Given the description of an element on the screen output the (x, y) to click on. 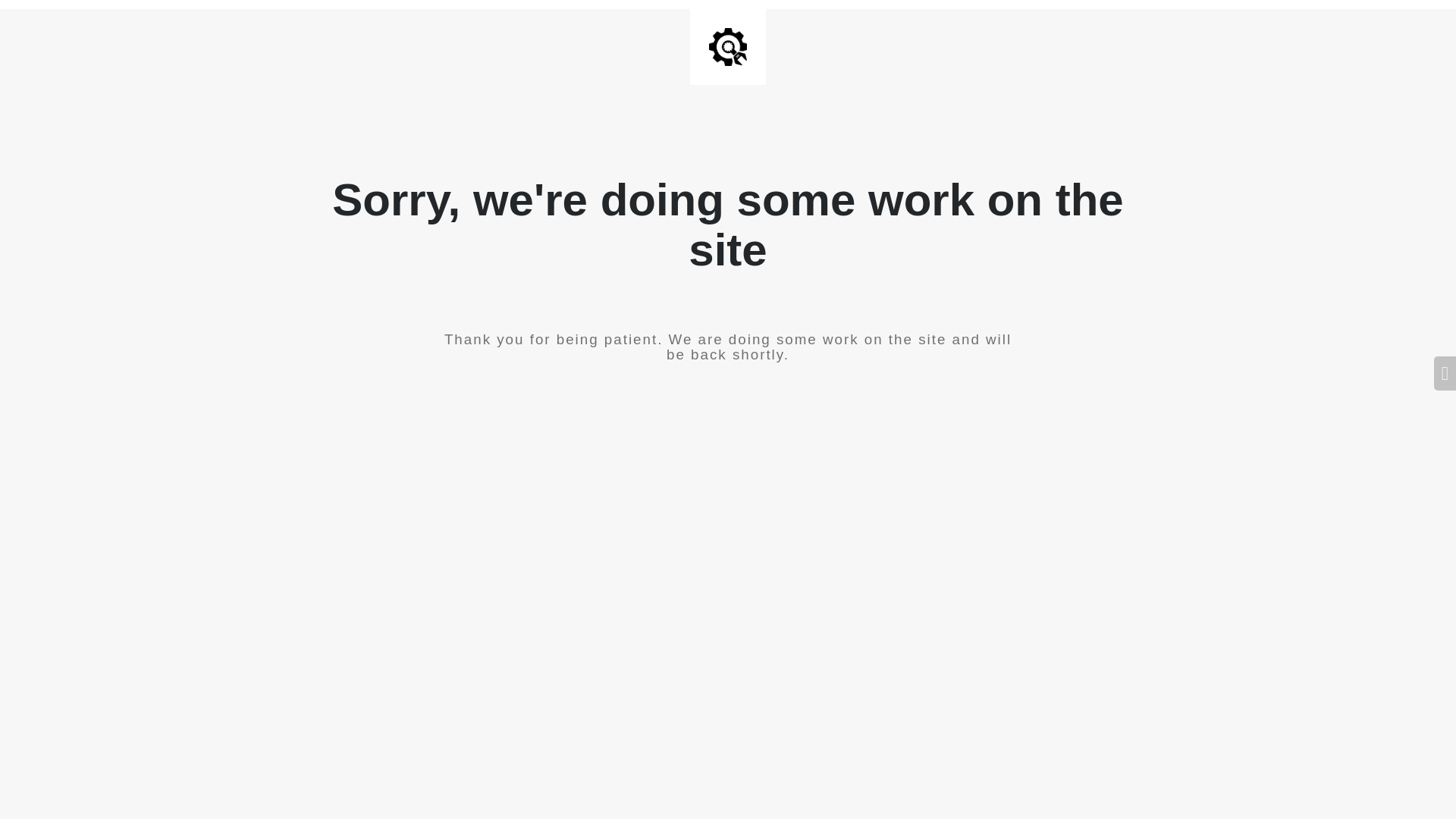
Site is Under Construction Element type: hover (727, 46)
